Given the description of an element on the screen output the (x, y) to click on. 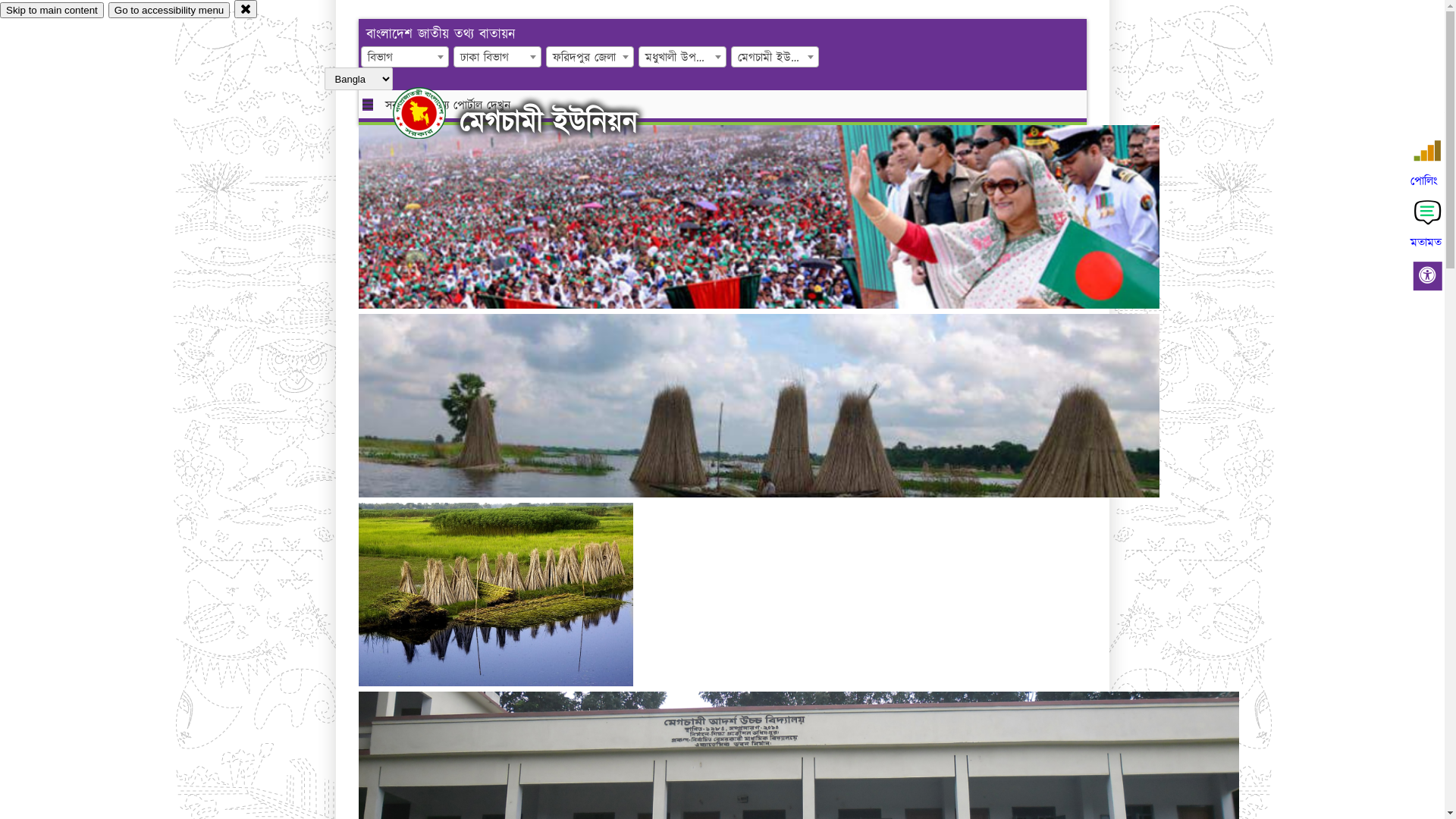
Skip to main content Element type: text (51, 10)

                
             Element type: hover (431, 112)
close Element type: hover (245, 9)
Go to accessibility menu Element type: text (168, 10)
